Given the description of an element on the screen output the (x, y) to click on. 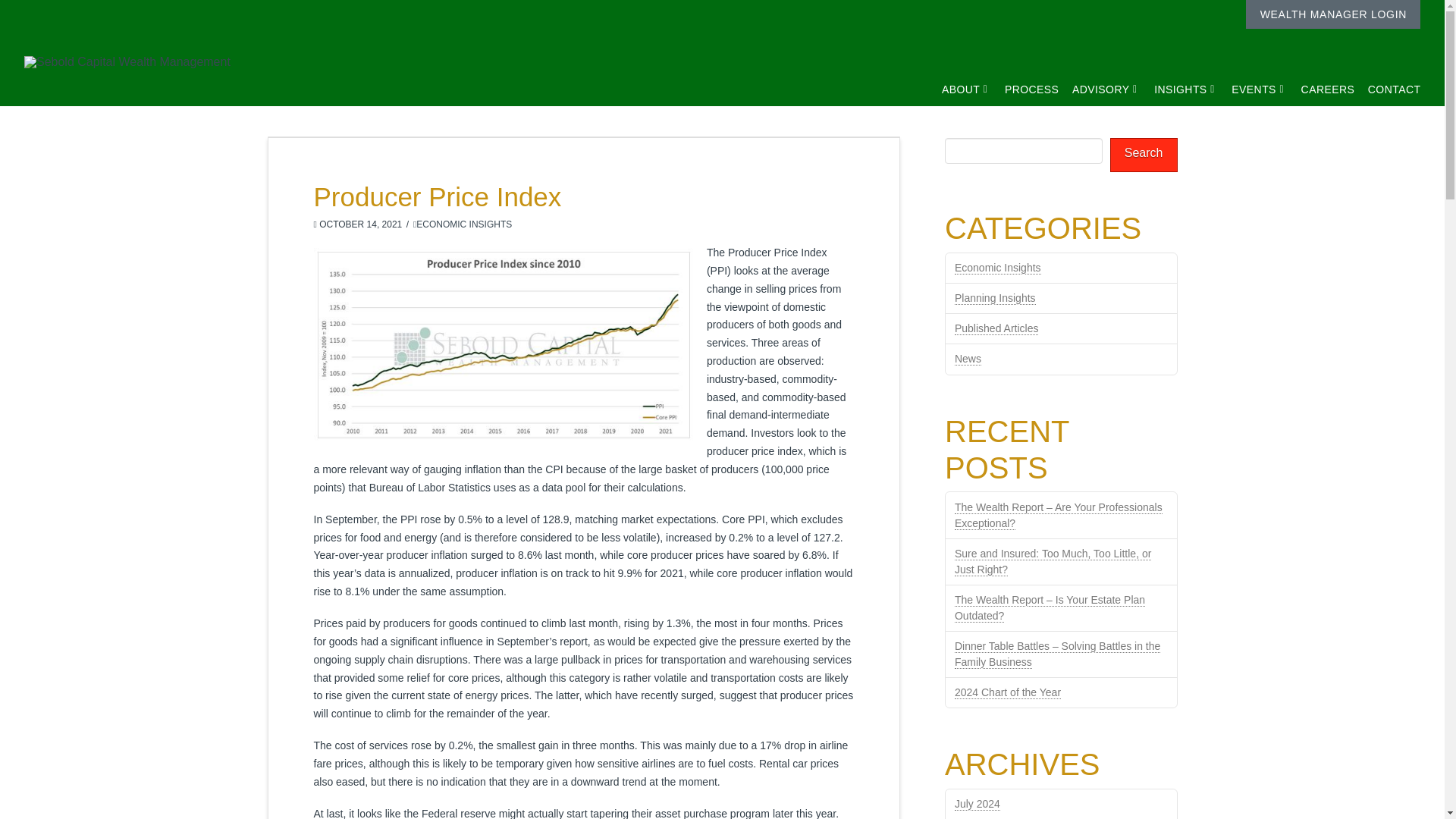
Economic Insights (998, 267)
INSIGHTS (1178, 75)
July 2024 (977, 803)
EVENTS (1252, 75)
2024 Chart of the Year (1008, 692)
Published Articles (997, 328)
CAREERS (1320, 75)
ABOUT (959, 75)
Planning Insights (995, 297)
WEALTH MANAGER LOGIN (1333, 14)
News (968, 358)
PROCESS (1024, 75)
Sure and Insured: Too Much, Too Little, or Just Right? (1053, 561)
Search (1143, 154)
ADVISORY (1099, 75)
